Given the description of an element on the screen output the (x, y) to click on. 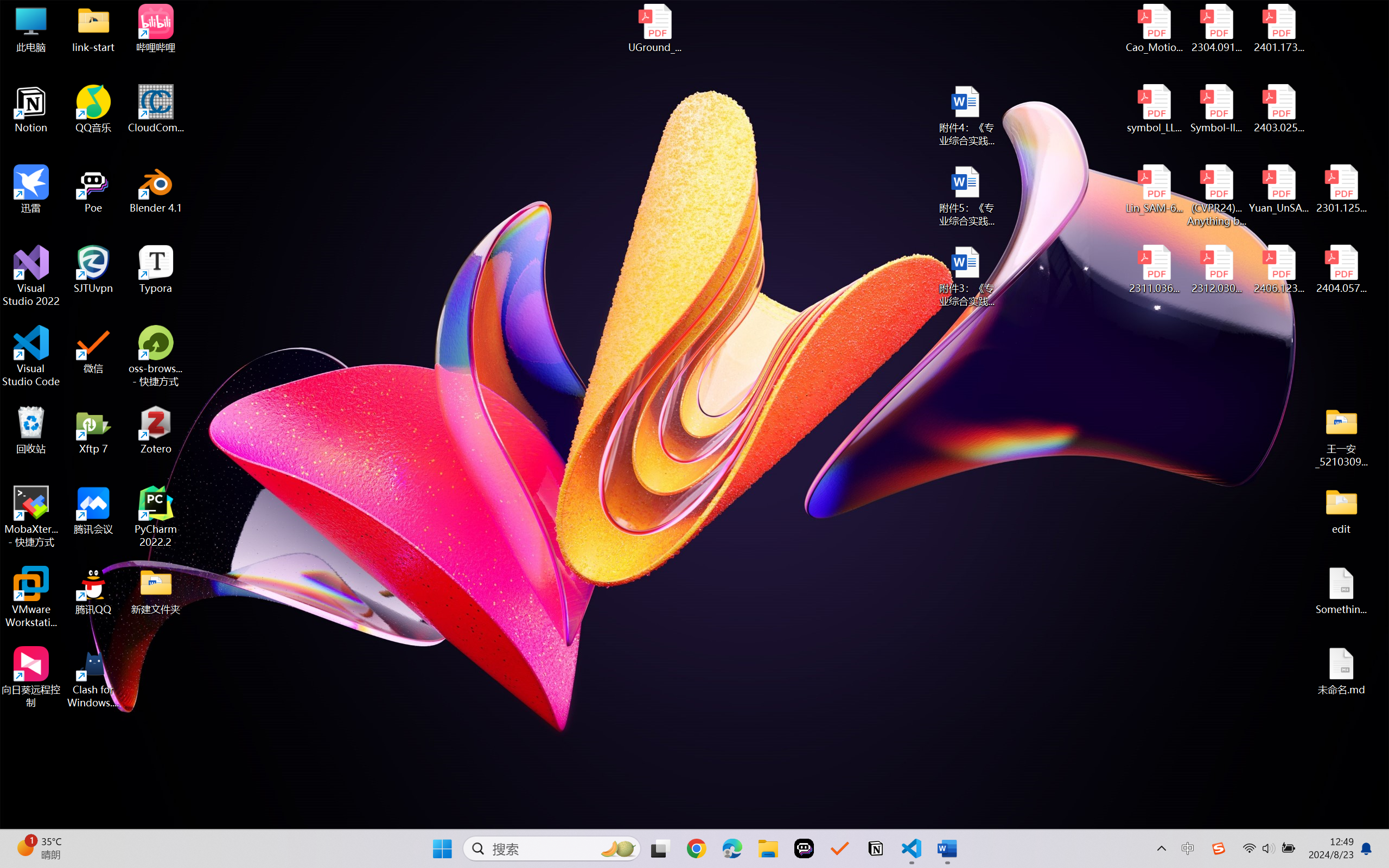
Xftp 7 (93, 430)
VMware Workstation Pro (31, 597)
Visual Studio Code (31, 355)
2403.02502v1.pdf (1278, 109)
2311.03658v2.pdf (1154, 269)
2304.09121v3.pdf (1216, 28)
